Given the description of an element on the screen output the (x, y) to click on. 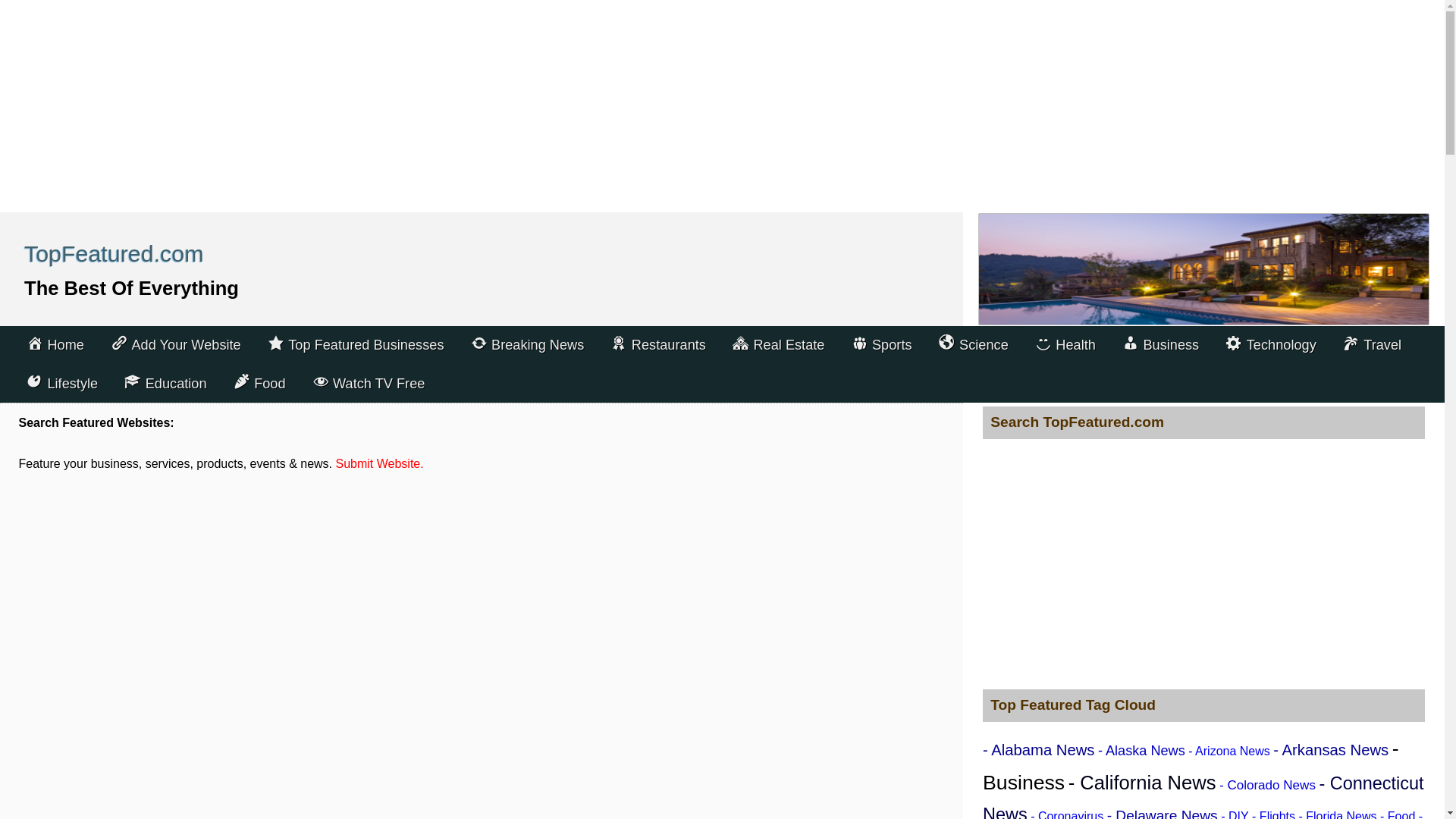
8 topics (1066, 814)
Education (164, 383)
- Alabama News (1038, 750)
4645 topics (1330, 750)
1825 topics (1268, 785)
3496 topics (1161, 813)
9149 topics (1202, 796)
Restaurants (657, 344)
Technology (1270, 344)
Travel (1372, 344)
11546 topics (1190, 765)
278 topics (1234, 814)
Science (973, 344)
